Given the description of an element on the screen output the (x, y) to click on. 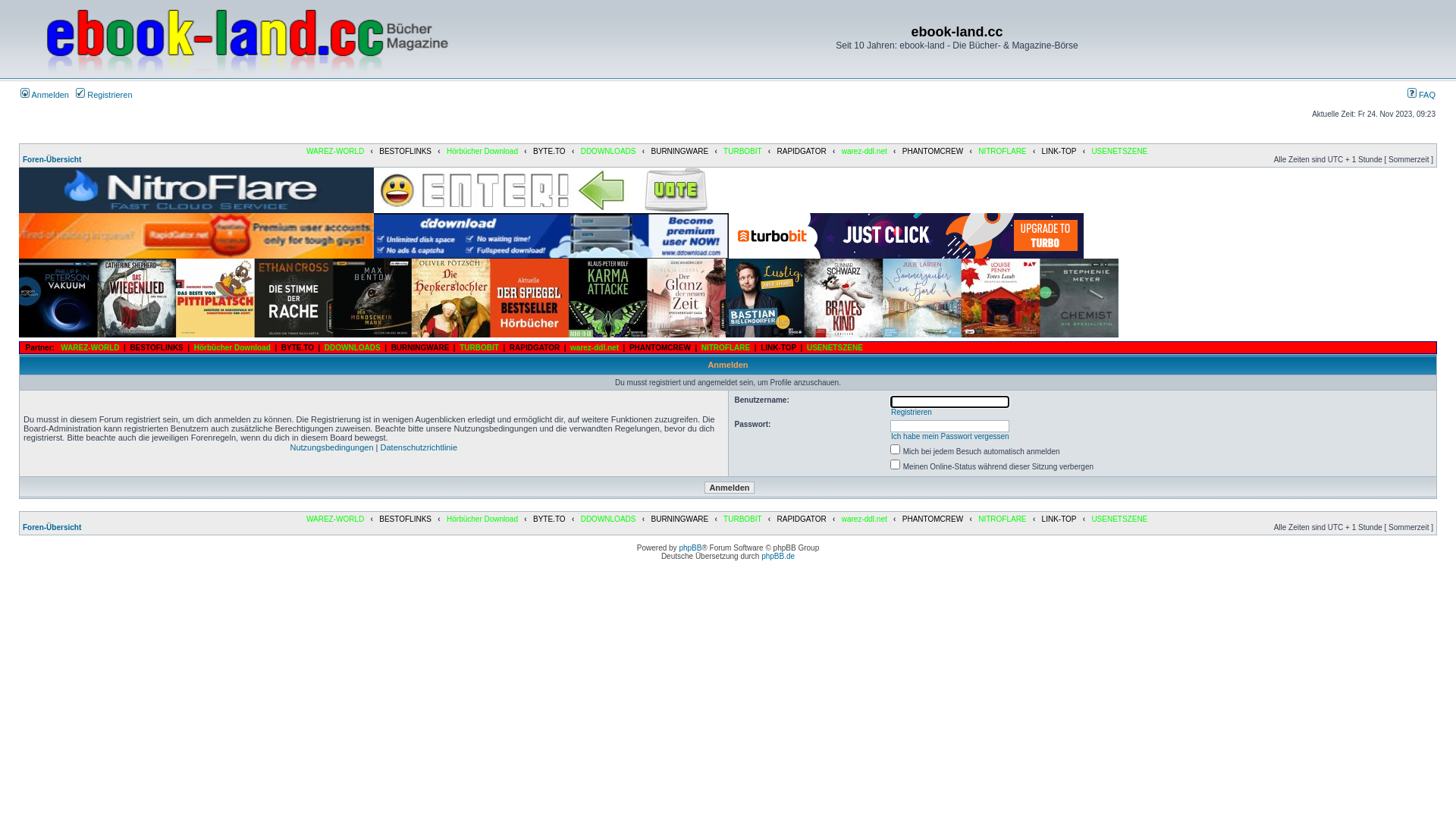
PHANTOMCREW Element type: text (659, 347)
TURBOBIT Element type: text (742, 151)
BYTE.TO Element type: text (549, 518)
TURBOBIT Element type: text (742, 518)
USENETSZENE Element type: text (1119, 151)
WAREZ-WORLD Element type: text (89, 347)
LINK-TOP Element type: text (778, 347)
USENETSZENE Element type: text (834, 347)
BESTOFLINKS Element type: text (405, 151)
TURBOBIT Element type: text (478, 347)
BYTE.TO Element type: text (297, 347)
BESTOFLINKS Element type: text (155, 347)
DDOWNLOADS Element type: text (608, 518)
BURNINGWARE Element type: text (679, 151)
Anmelden Element type: text (44, 94)
RAPIDGATOR Element type: text (800, 518)
Datenschutzrichtlinie Element type: text (419, 446)
NITROFLARE Element type: text (1002, 151)
warez-ddl.net Element type: text (594, 347)
NITROFLARE Element type: text (725, 347)
PHANTOMCREW Element type: text (932, 518)
LINK-TOP Element type: text (1058, 518)
Registrieren Element type: text (911, 411)
DDOWNLOADS Element type: text (352, 347)
Ich habe mein Passwort vergessen Element type: text (950, 436)
phpBB Element type: text (689, 547)
phpBB.de Element type: text (777, 556)
DDOWNLOADS Element type: text (608, 151)
Nutzungsbedingungen Element type: text (331, 446)
RAPIDGATOR Element type: text (800, 151)
BESTOFLINKS Element type: text (405, 518)
BURNINGWARE Element type: text (420, 347)
BYTE.TO Element type: text (549, 151)
BURNINGWARE Element type: text (679, 518)
Registrieren Element type: text (103, 94)
LINK-TOP Element type: text (1058, 151)
Anmelden Element type: text (728, 487)
warez-ddl.net Element type: text (864, 151)
RAPIDGATOR Element type: text (534, 347)
warez-ddl.net Element type: text (864, 518)
USENETSZENE Element type: text (1119, 518)
FAQ Element type: text (1421, 94)
NITROFLARE Element type: text (1002, 518)
WAREZ-WORLD Element type: text (335, 151)
PHANTOMCREW Element type: text (932, 151)
WAREZ-WORLD Element type: text (335, 518)
